Given the description of an element on the screen output the (x, y) to click on. 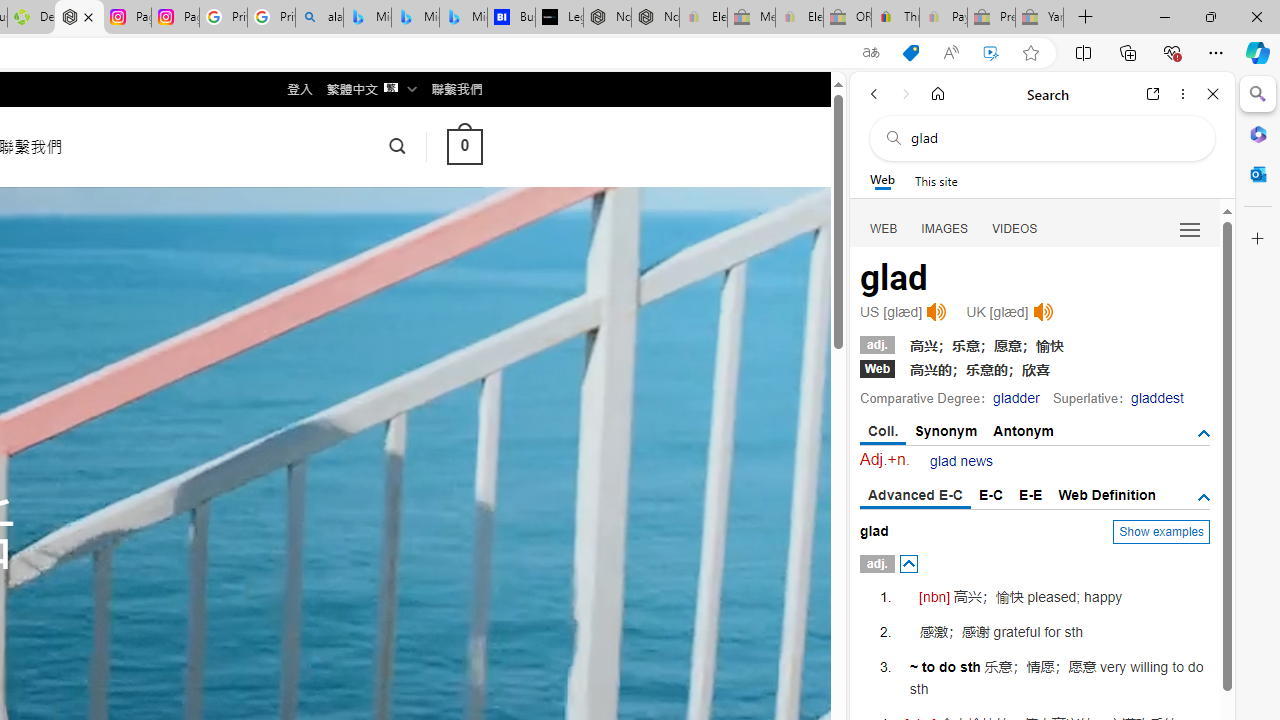
Click to listen (1042, 312)
Synonym (945, 430)
Coll. (883, 431)
Press Room - eBay Inc. - Sleeping (991, 17)
Advanced E-C (915, 496)
